Given the description of an element on the screen output the (x, y) to click on. 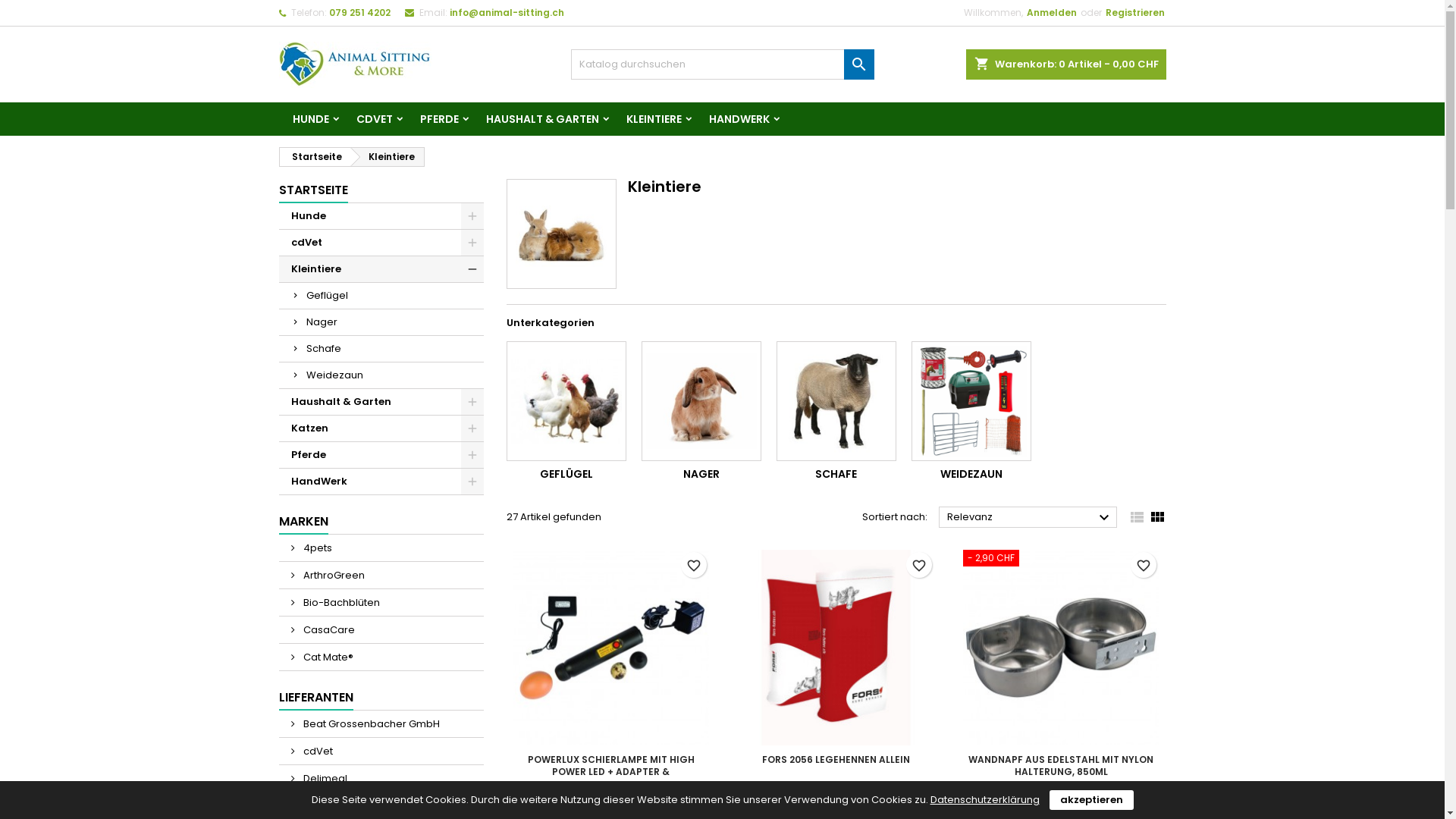
Startseite Element type: text (313, 156)
cdVet Element type: text (381, 242)
079 251 4202 Element type: text (359, 12)
Kleintiere Element type: text (387, 156)
MARKEN Element type: text (303, 522)
Delimeal Element type: text (381, 778)
KLEINTIERE Element type: text (653, 118)
LIEFERANTEN Element type: text (316, 698)
HANDWERK Element type: text (738, 118)
Anmelden Element type: text (1051, 12)
Weidezaun Element type: hover (971, 401)
Haushalt & Garten Element type: text (381, 402)
Weidezaun Element type: text (381, 375)
NAGER Element type: text (700, 473)
favorite_border Element type: text (693, 564)
CDVET Element type: text (374, 118)
shopping_cart
Warenkorb: 0 Artikel - 0,00 CHF Element type: text (1066, 64)
WANDNAPF AUS EDELSTAHL MIT NYLON HALTERUNG, 850ML Element type: text (1060, 765)
cdVet Element type: text (381, 750)
STARTSEITE Element type: text (313, 190)
ArthroGreen Element type: text (381, 574)
Pferde Element type: text (381, 455)
4pets Element type: text (381, 547)
SCHAFE Element type: text (835, 473)
PFERDE Element type: text (439, 118)
akzeptieren Element type: text (1091, 799)
Nager Element type: text (381, 322)
Beat Grossenbacher GmbH Element type: text (381, 723)
Registrieren Element type: text (1135, 12)
Hunde Element type: text (381, 216)
WEIDEZAUN Element type: text (971, 473)
FORS 2056 LEGEHENNEN ALLEIN Element type: text (836, 759)
CasaCare Element type: text (381, 629)
- 2,90 CHF Element type: text (1061, 559)
favorite_border Element type: text (1143, 564)
info@animal-sitting.ch Element type: text (505, 12)
Nager Element type: hover (701, 401)
Kleintiere Element type: text (381, 269)
HandWerk Element type: text (381, 481)
HUNDE Element type: text (310, 118)
Katzen Element type: text (381, 428)
Schafe Element type: hover (836, 401)
Schafe Element type: text (381, 348)
favorite_border Element type: text (918, 564)
HAUSHALT & GARTEN Element type: text (541, 118)
